Given the description of an element on the screen output the (x, y) to click on. 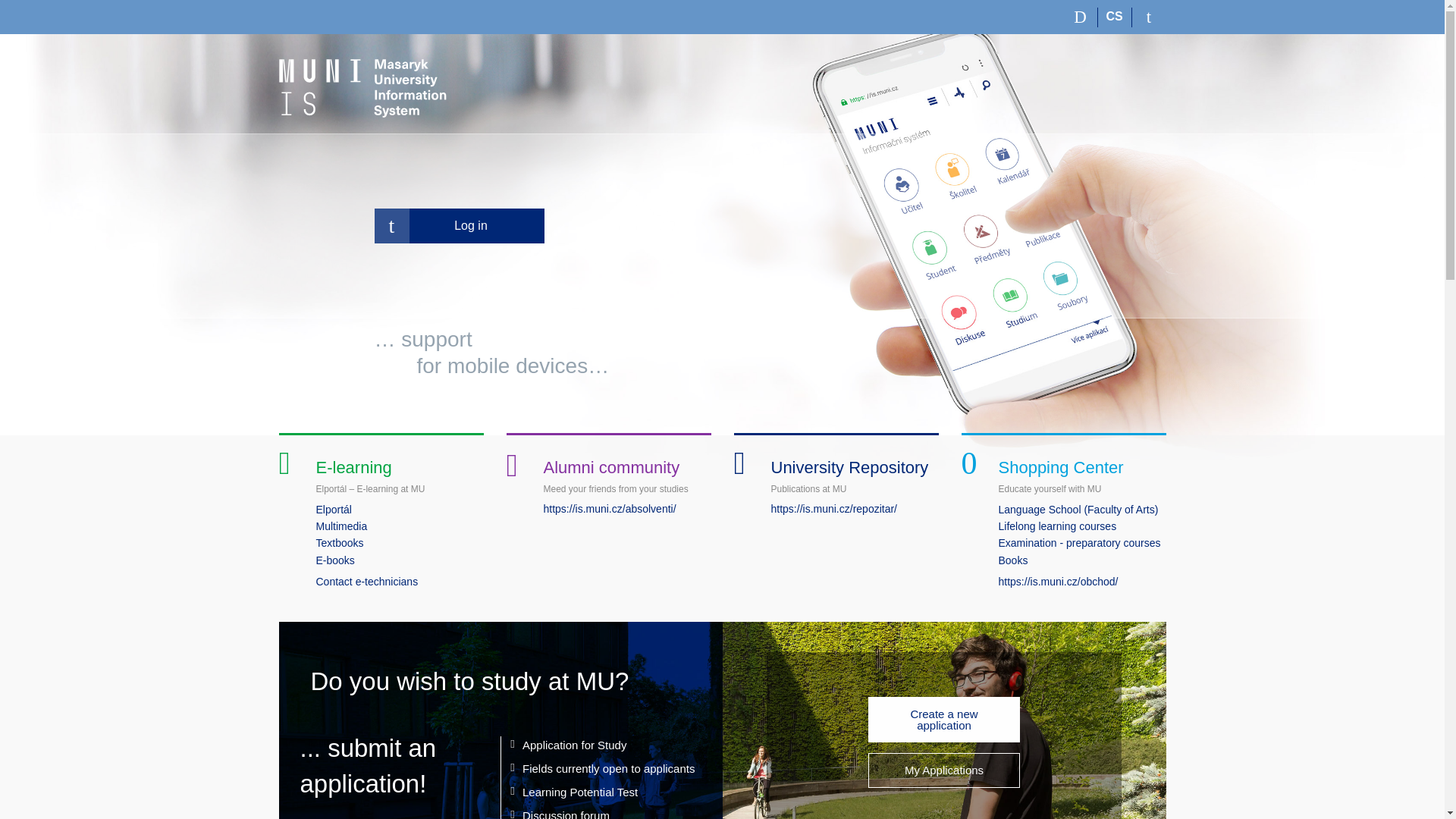
Examination - preparatory courses (1078, 542)
Textbooks (338, 542)
Learning Potential Test (579, 791)
My Applications (943, 769)
Search (1080, 17)
Lifelong learning courses (1056, 526)
E-learning (353, 466)
CS (1114, 17)
Application for Study (574, 744)
Shopping Center (1059, 466)
Fields currently open to applicants (608, 768)
E-books (334, 560)
Contact e-technicians (366, 581)
Create a new application (943, 719)
